Given the description of an element on the screen output the (x, y) to click on. 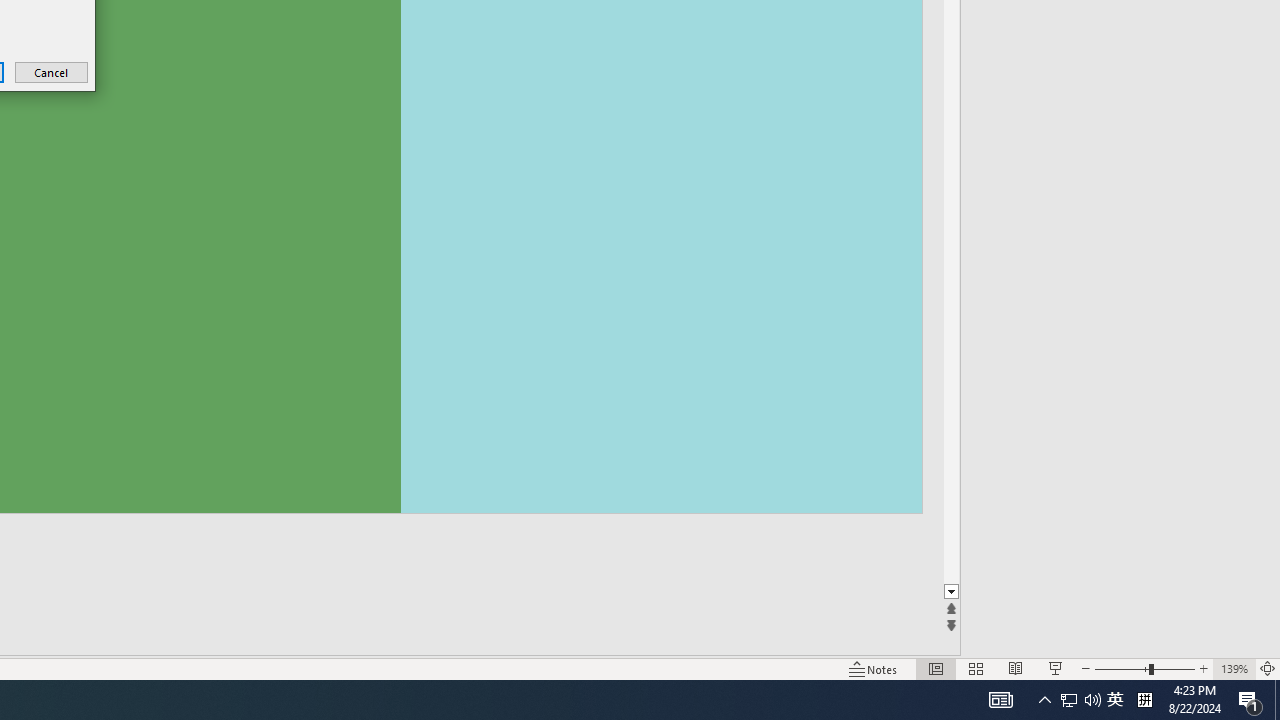
Action Center, 1 new notification (1250, 699)
AutomationID: 4105 (1000, 699)
Zoom (1144, 668)
Zoom to Fit  (1267, 668)
User Promoted Notification Area (1115, 699)
Zoom In (1080, 699)
Normal (1204, 668)
Show desktop (936, 668)
Reading View (1277, 699)
Notification Chevron (1015, 668)
Cancel (1044, 699)
Zoom Out (51, 72)
Slide Sorter (1121, 668)
